Given the description of an element on the screen output the (x, y) to click on. 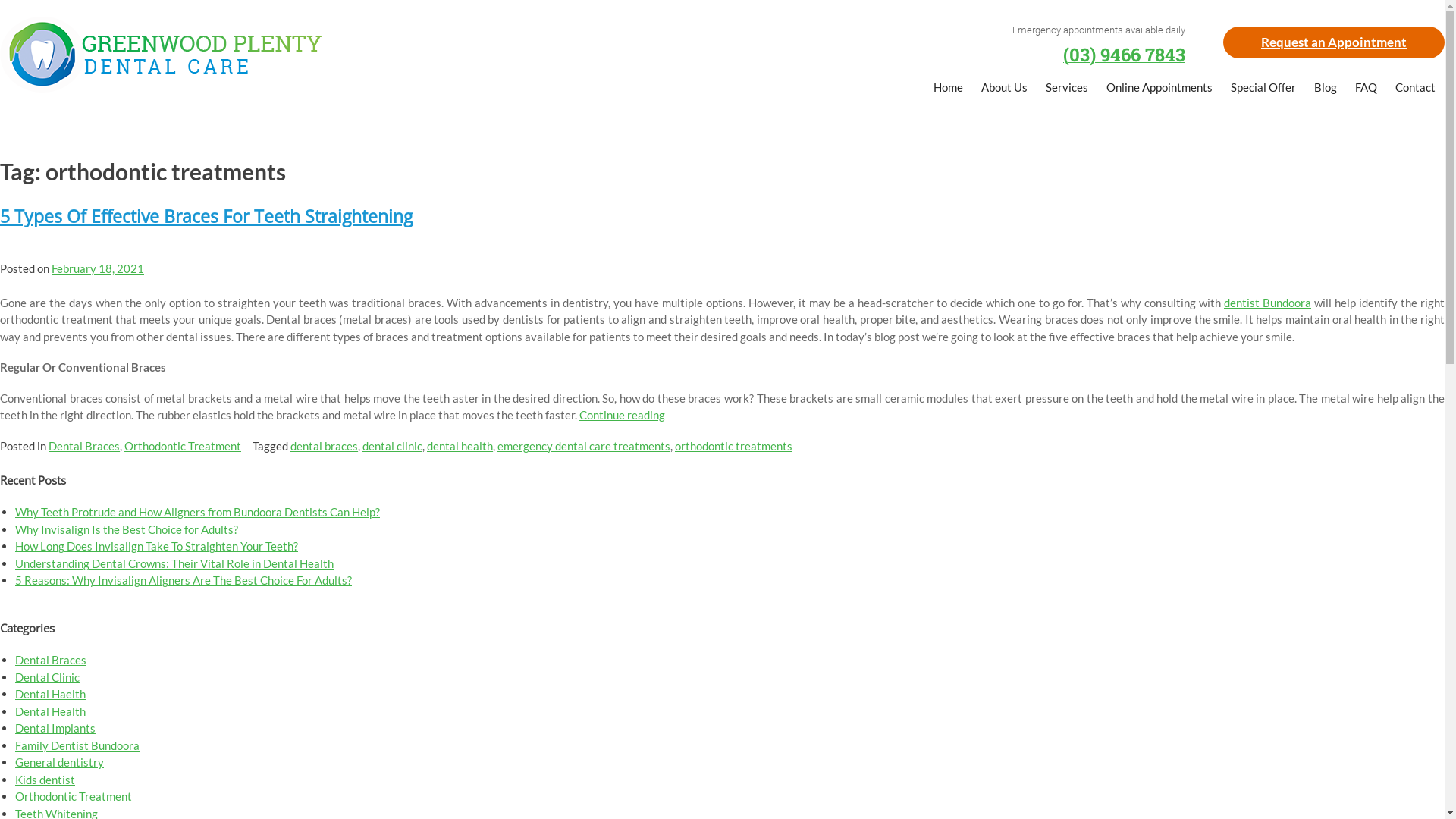
Request an Appointment Element type: text (1333, 42)
orthodontic treatments Element type: text (733, 445)
Orthodontic Treatment Element type: text (182, 445)
Home Element type: text (948, 88)
Blog Element type: text (1325, 88)
Dental Braces Element type: text (50, 659)
General dentistry Element type: text (59, 761)
About Us Element type: text (1004, 88)
Dental Braces Element type: text (83, 445)
Skip to content Element type: text (0, 0)
5 Types Of Effective Braces For Teeth Straightening Element type: text (206, 216)
Family Dentist Bundoora Element type: text (77, 745)
(03) 9466 7843 Element type: text (1124, 56)
How Long Does Invisalign Take To Straighten Your Teeth? Element type: text (156, 545)
Special Offer Element type: text (1262, 88)
Dental Clinic Element type: text (47, 677)
Services Element type: text (1066, 88)
dentist Bundoora Element type: text (1267, 302)
Dental Implants Element type: text (55, 727)
Online Appointments Element type: text (1159, 88)
dental braces Element type: text (323, 445)
Why Invisalign Is the Best Choice for Adults? Element type: text (126, 529)
dental clinic Element type: text (392, 445)
Kids dentist Element type: text (45, 779)
Dental Haelth Element type: text (50, 693)
Orthodontic Treatment Element type: text (73, 796)
Contact Element type: text (1415, 88)
FAQ Element type: text (1366, 88)
dental health Element type: text (459, 445)
Dental Health Element type: text (50, 711)
emergency dental care treatments Element type: text (583, 445)
February 18, 2021 Element type: text (97, 268)
